Given the description of an element on the screen output the (x, y) to click on. 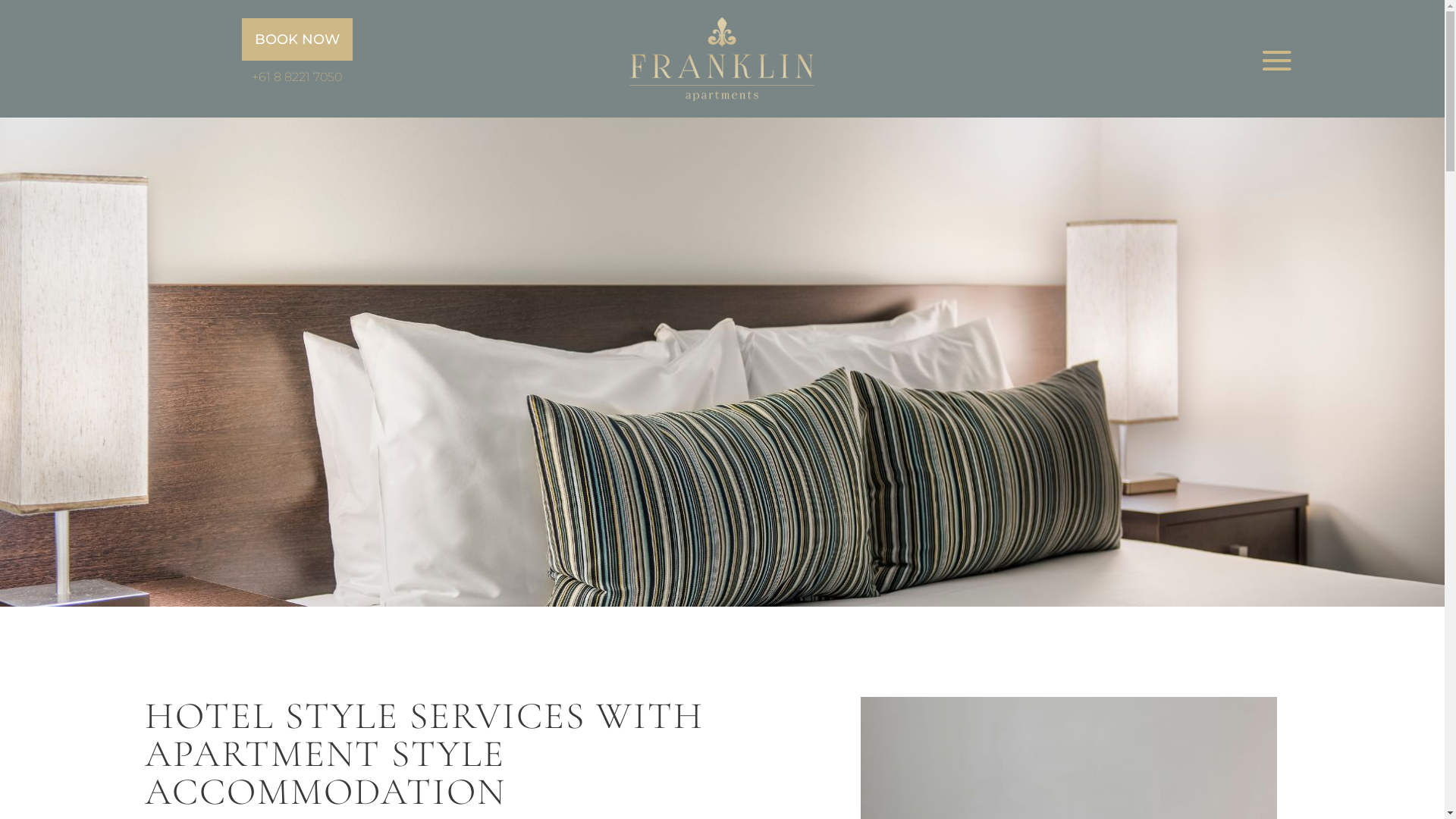
Franklin Apartments - Logo Element type: hover (721, 58)
+61 8 8221 7050 Element type: text (296, 76)
BOOK NOW Element type: text (296, 39)
